Given the description of an element on the screen output the (x, y) to click on. 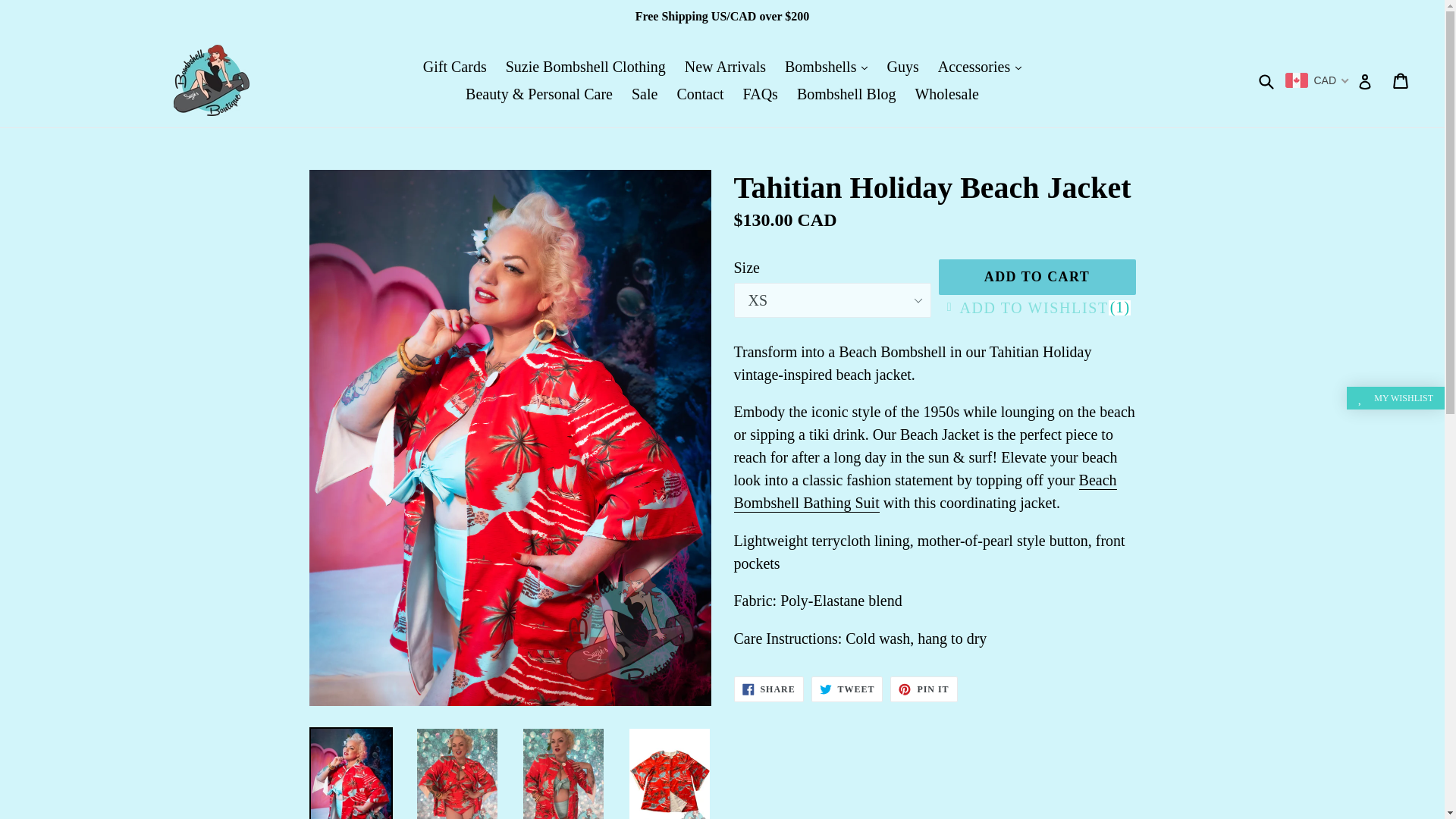
Pin on Pinterest (922, 688)
New Arrivals (725, 66)
Suzie Bombshell Clothing (584, 66)
Gift Cards (454, 66)
Tweet on Twitter (846, 688)
Share on Facebook (768, 688)
